Given the description of an element on the screen output the (x, y) to click on. 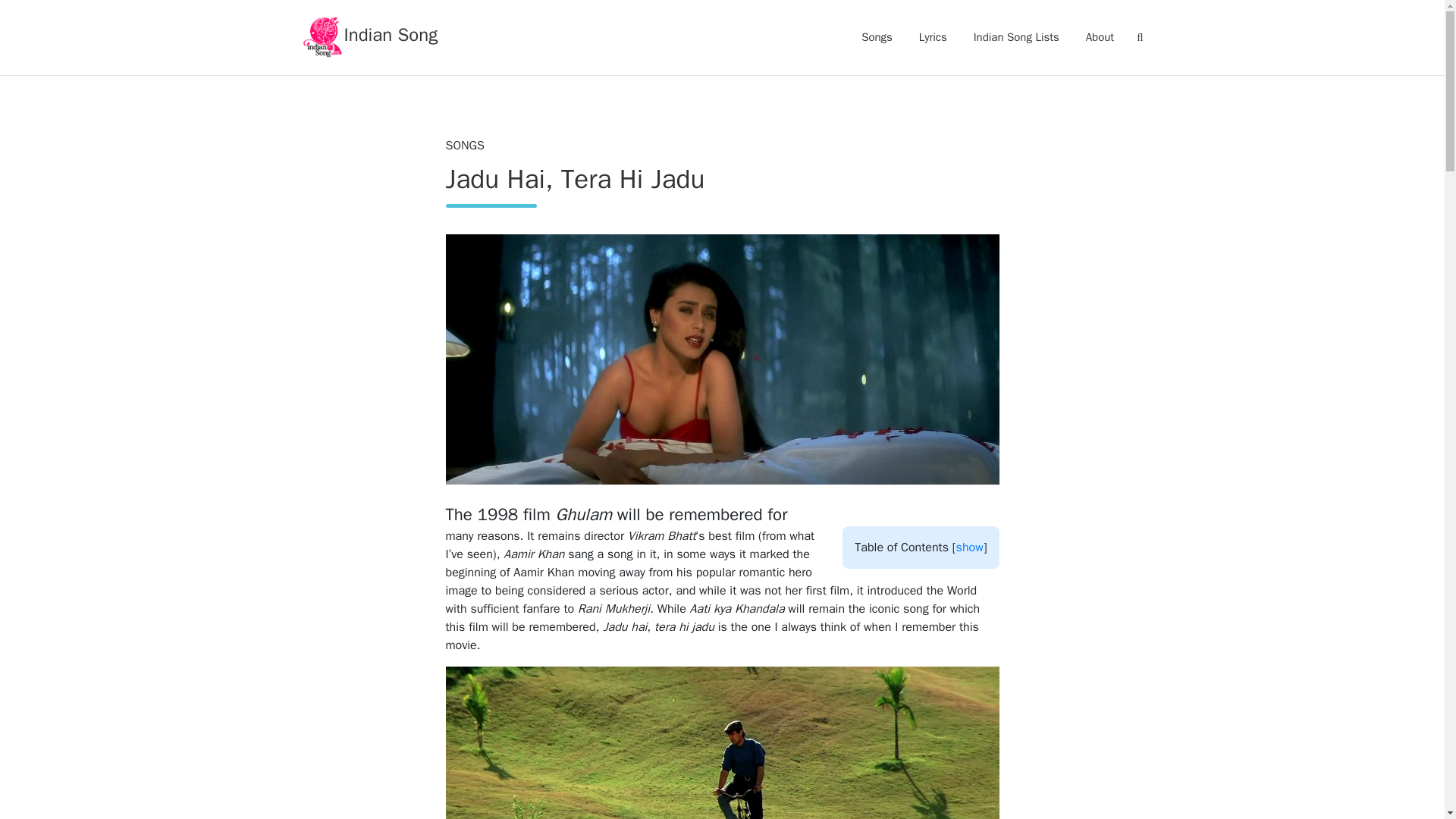
Indian Song Lists (1016, 36)
Best Indian songs lists (1016, 36)
Indian Song (369, 36)
show (970, 547)
SONGS (464, 145)
